Given the description of an element on the screen output the (x, y) to click on. 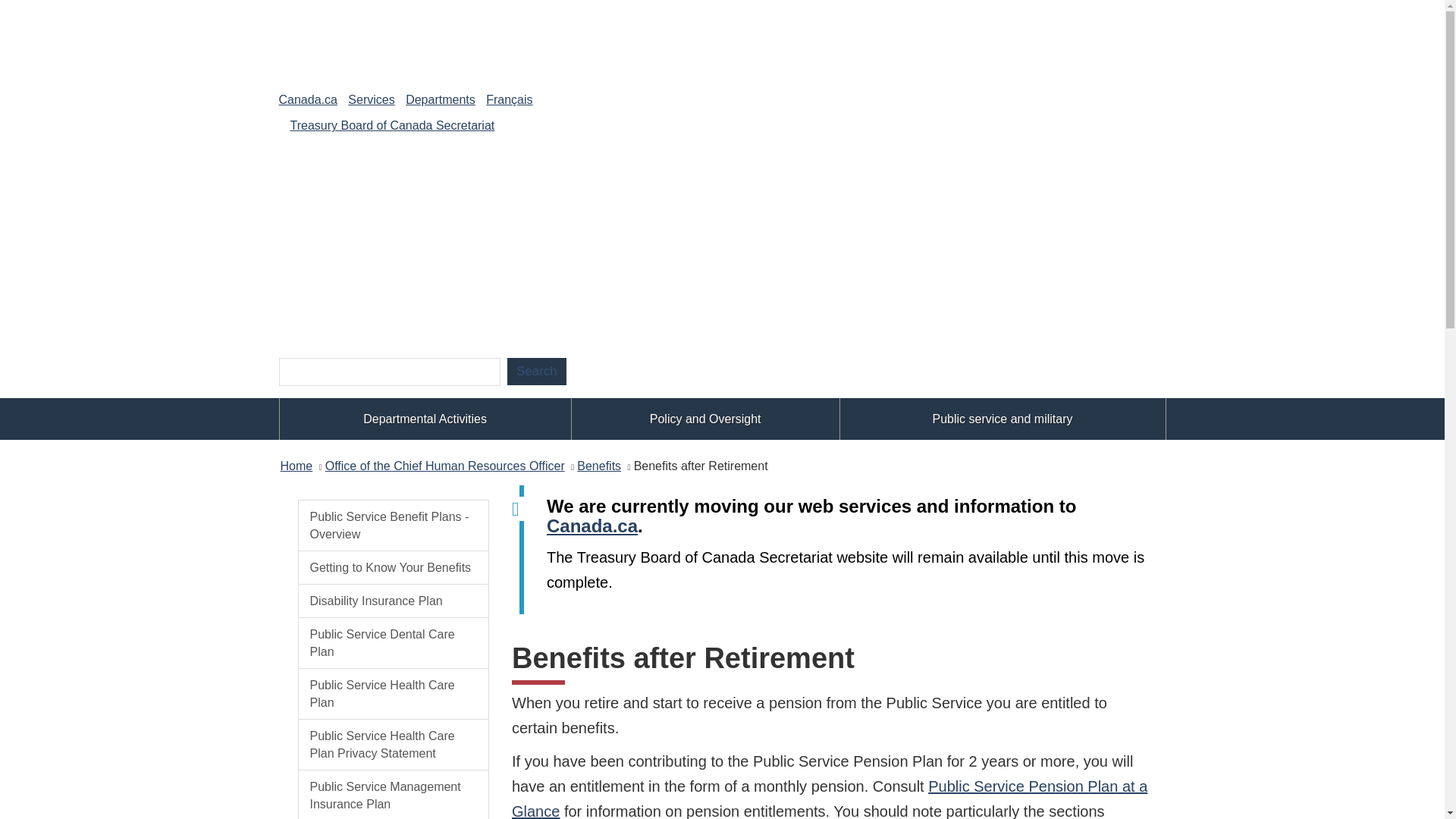
Public Service Dental Care Plan (393, 643)
Public Service Pension Plan at a Glance (829, 798)
Public Service Health Care Plan (393, 693)
Office of the Chief Human Resources Officer (444, 465)
Departmental Activities (424, 418)
Public Service Management Insurance Plan (393, 794)
Treasury Board of Canada Secretariat (392, 124)
Public service and military (1003, 418)
Policy and Oversight (706, 418)
Services (370, 99)
